Given the description of an element on the screen output the (x, y) to click on. 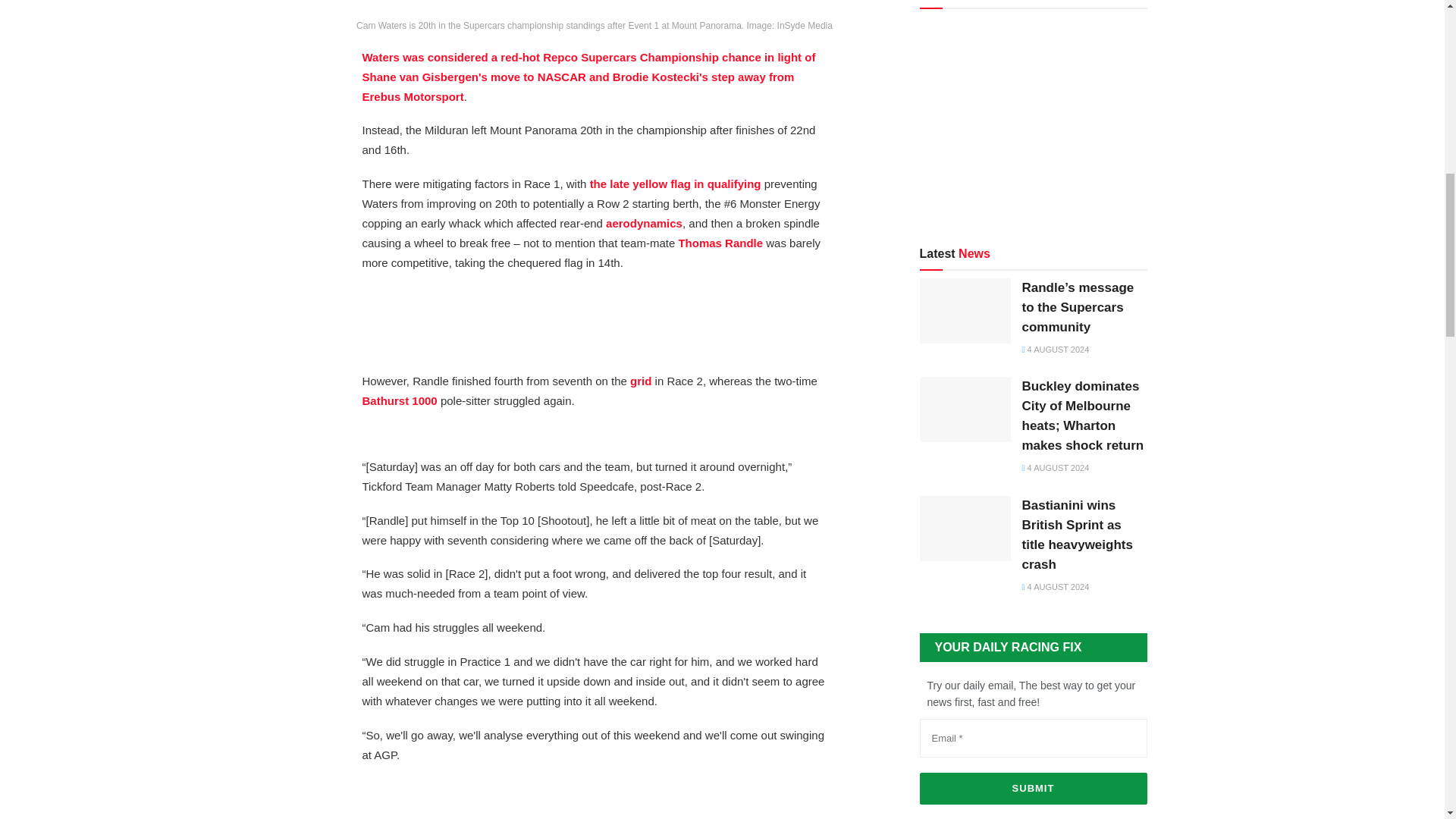
SUBMIT (1032, 788)
